Given the description of an element on the screen output the (x, y) to click on. 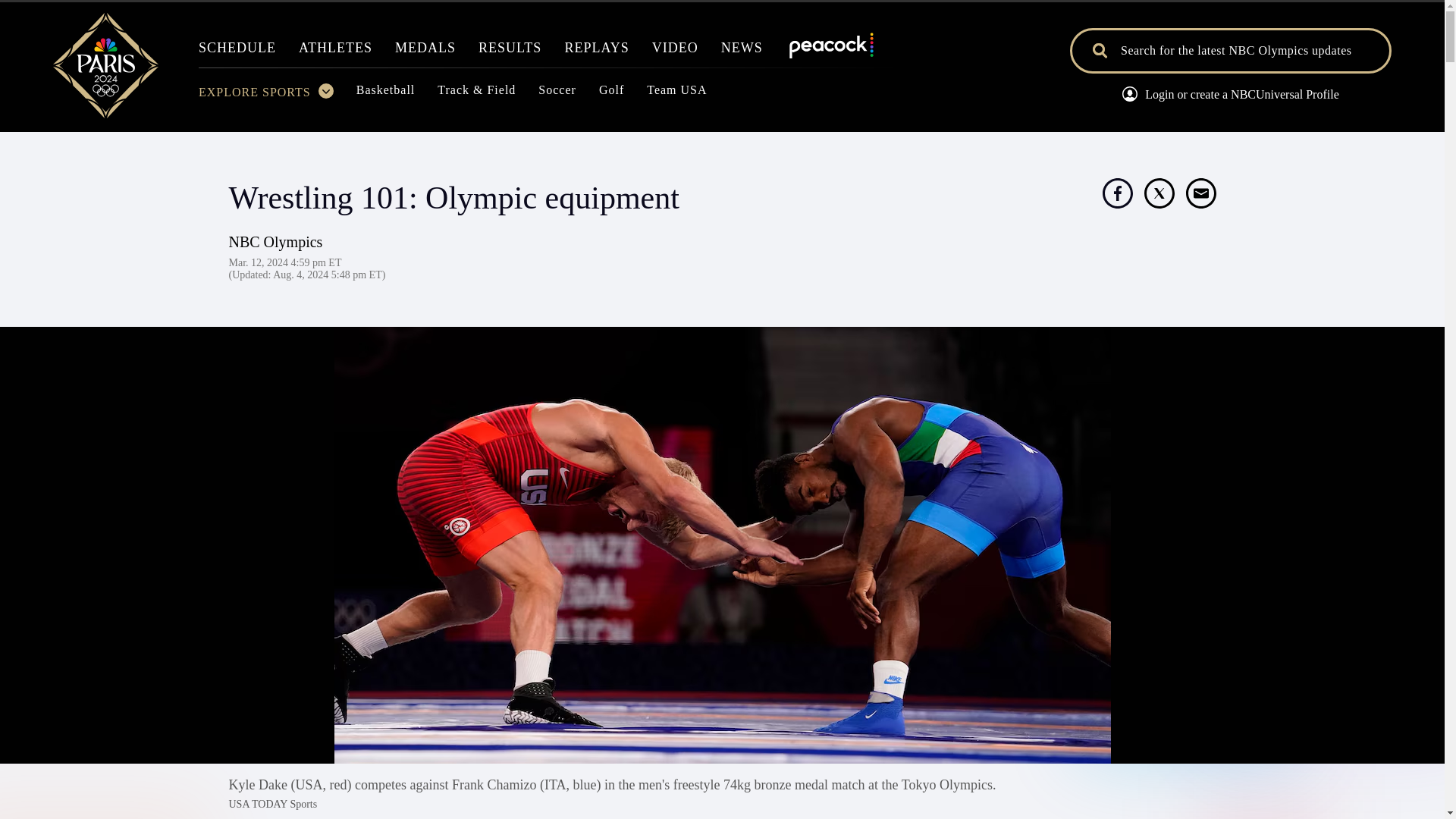
Soccer (557, 93)
REPLAYS (596, 51)
Login or create a NBCUniversal Profile (1229, 95)
Golf (611, 93)
MEDALS (424, 51)
ATHLETES (335, 51)
SCHEDULE (237, 51)
Share this article on Facebook (1117, 193)
NEWS (741, 51)
VIDEO (675, 51)
